Given the description of an element on the screen output the (x, y) to click on. 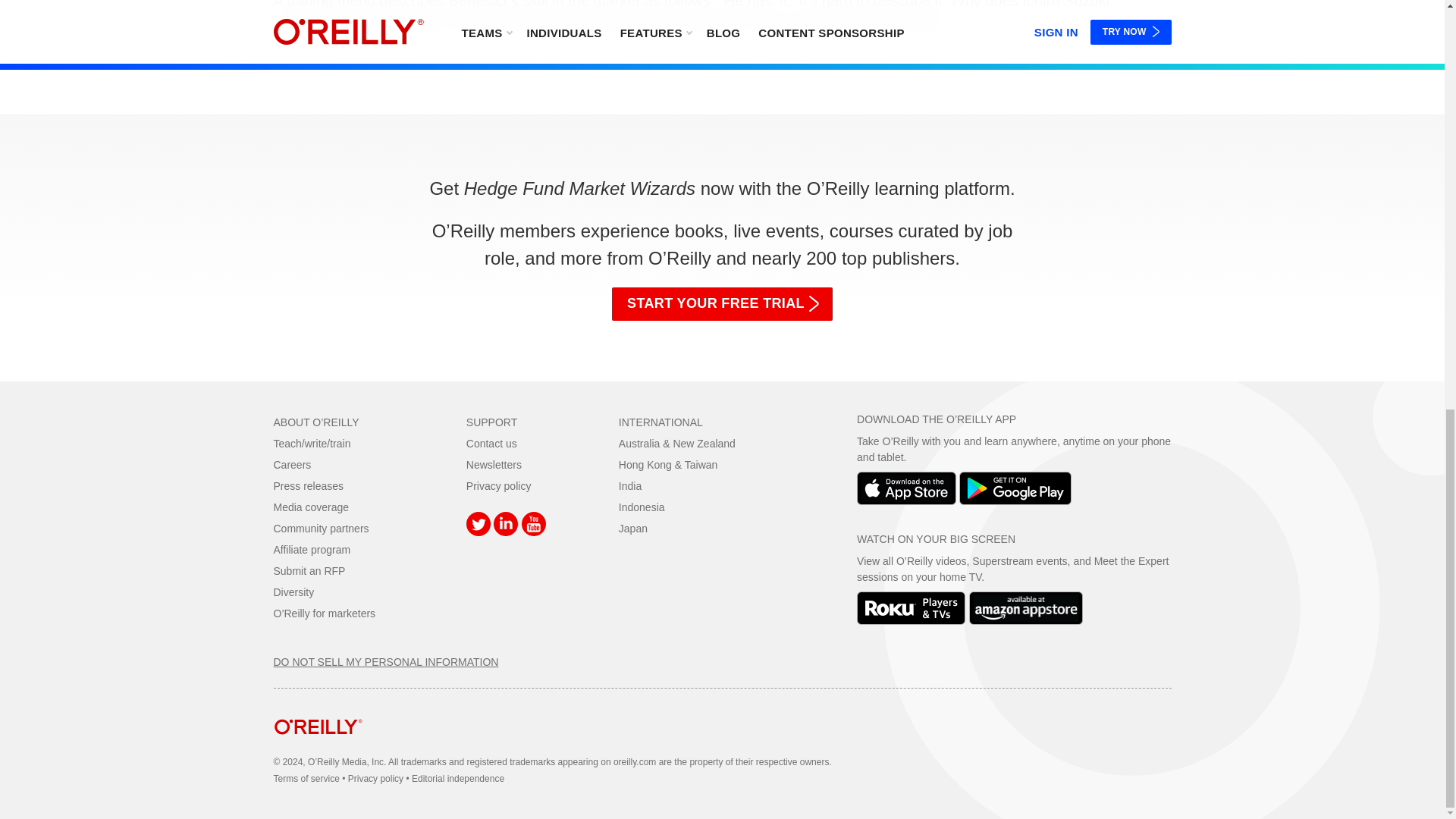
Diversity (293, 592)
Privacy policy (498, 485)
SUPPORT (490, 422)
home page (317, 745)
Community partners (320, 528)
Affiliate program (311, 549)
Submit an RFP (309, 571)
Press releases (308, 485)
Newsletters (493, 464)
START YOUR FREE TRIAL (721, 304)
